Given the description of an element on the screen output the (x, y) to click on. 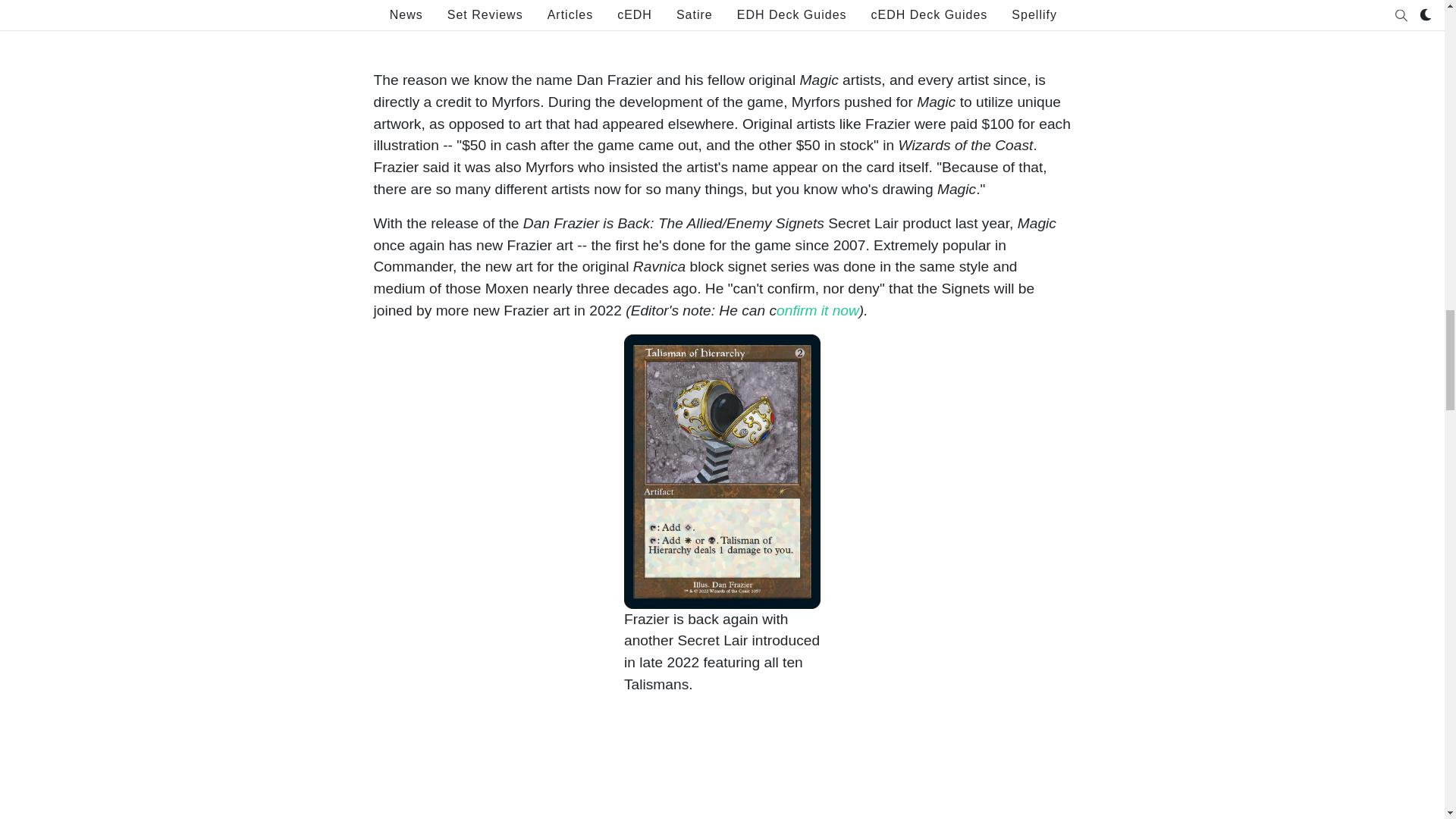
onfirm it now (817, 310)
